Given the description of an element on the screen output the (x, y) to click on. 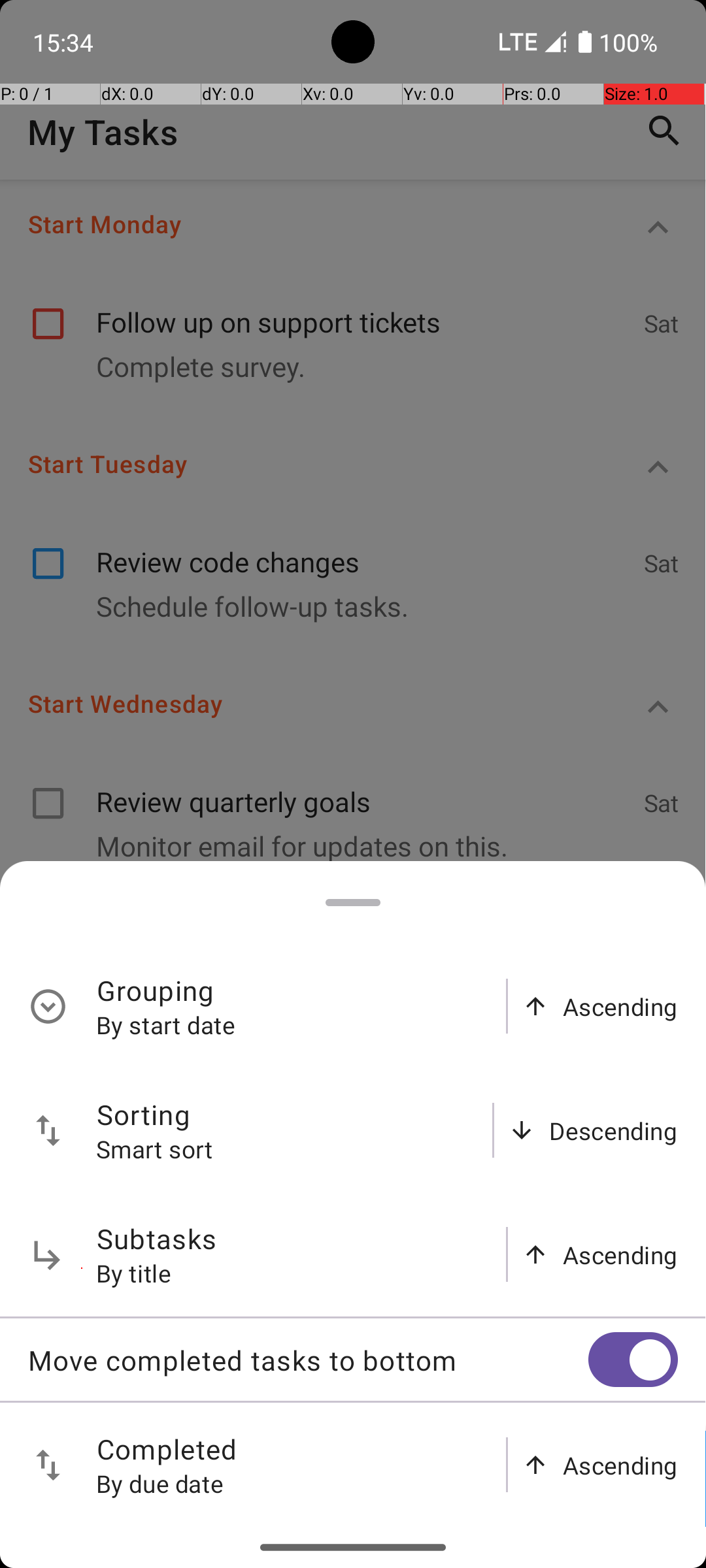
By title Element type: android.widget.TextView (133, 1273)
Completed Element type: android.widget.TextView (166, 1448)
By due date Element type: android.widget.TextView (160, 1483)
Ascending Element type: android.widget.TextView (619, 1006)
